Given the description of an element on the screen output the (x, y) to click on. 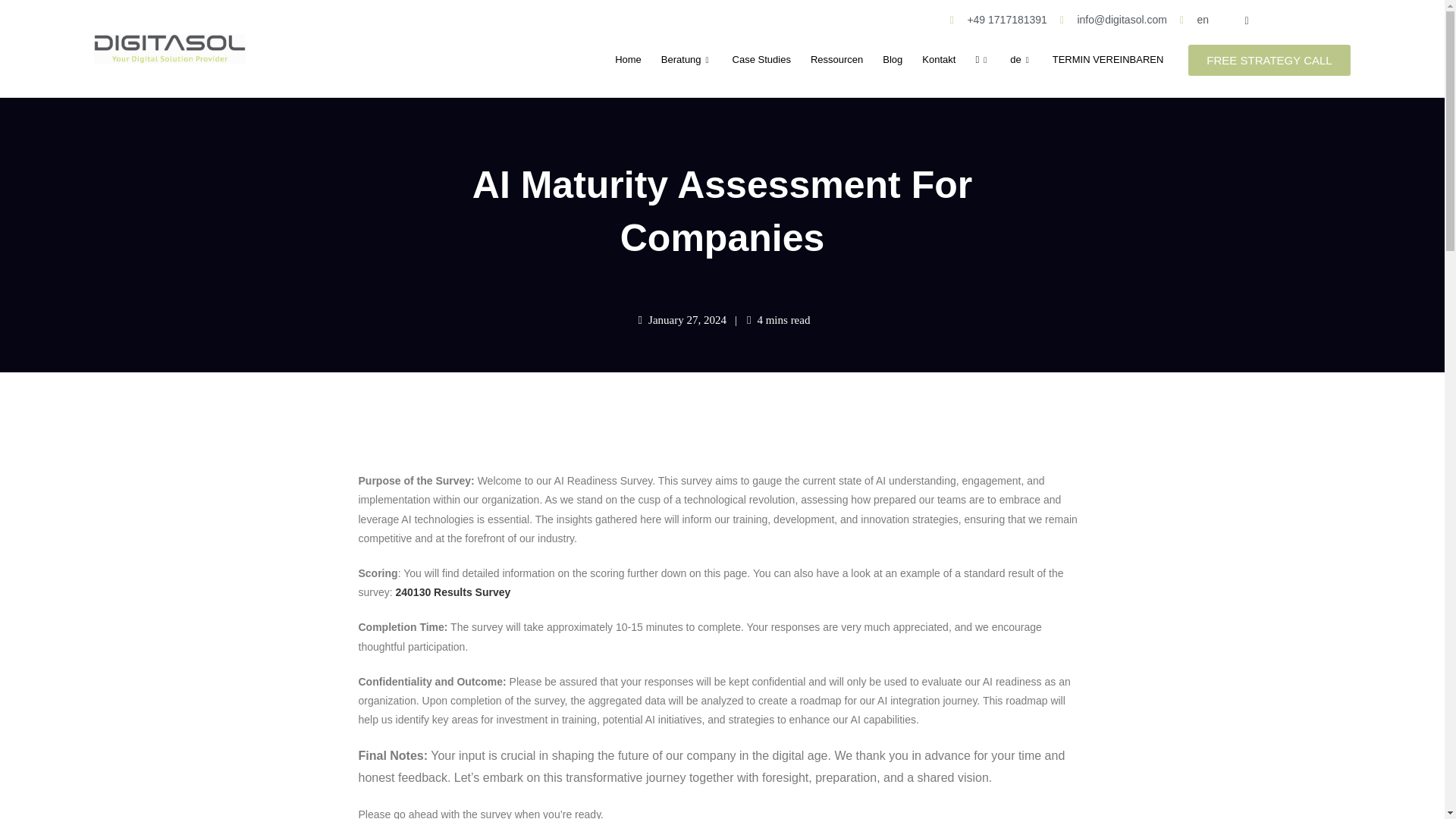
Case Studies (761, 60)
TERMIN VEREINBAREN (1107, 60)
Blog (892, 60)
Ressourcen (836, 60)
Kontakt (938, 60)
Home (627, 60)
de (1021, 60)
Beratung (686, 60)
en (1193, 19)
FREE STRATEGY CALL (1268, 60)
